Given the description of an element on the screen output the (x, y) to click on. 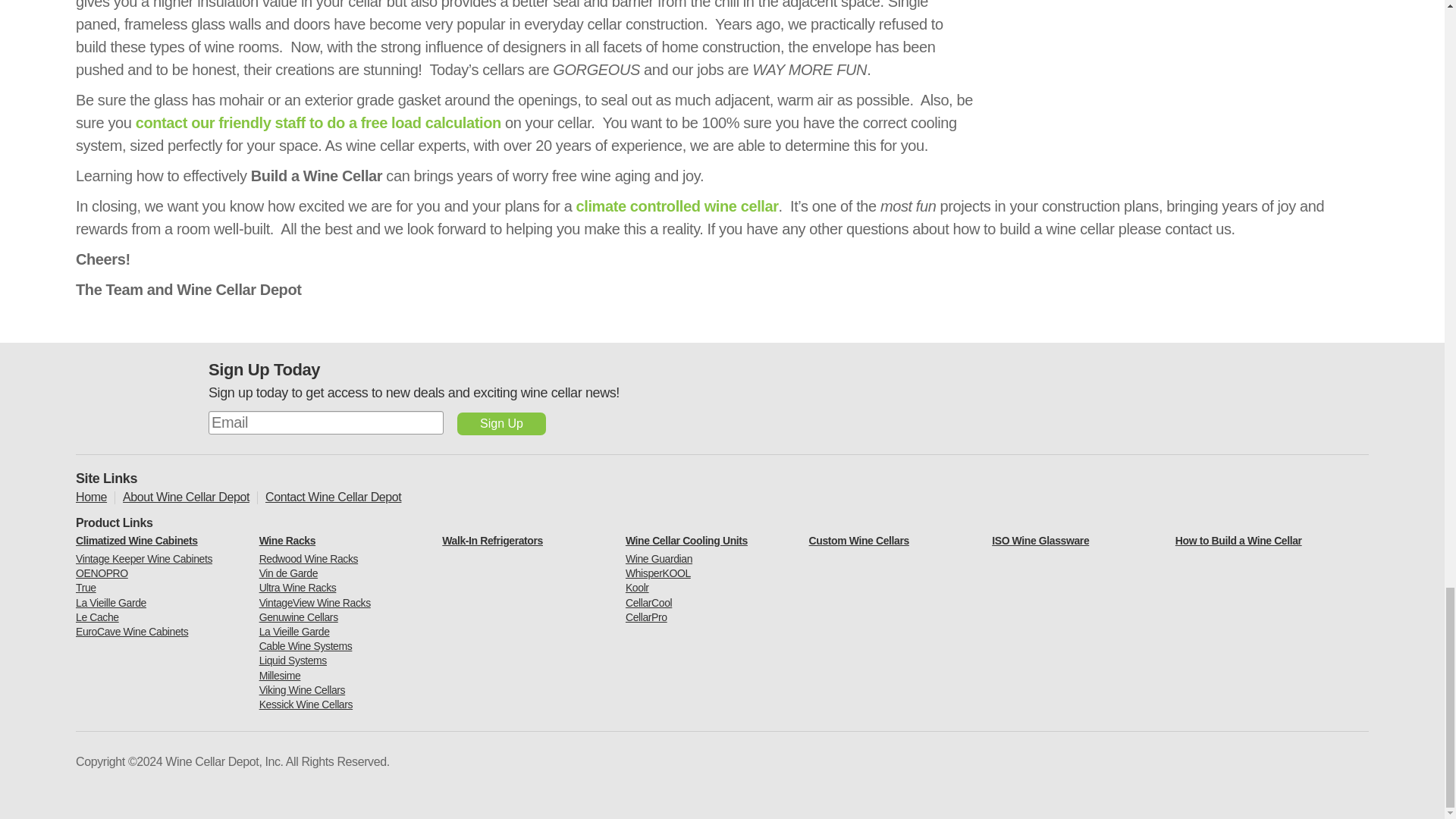
How to Build a Wine Cellar 6 (1179, 70)
